Given the description of an element on the screen output the (x, y) to click on. 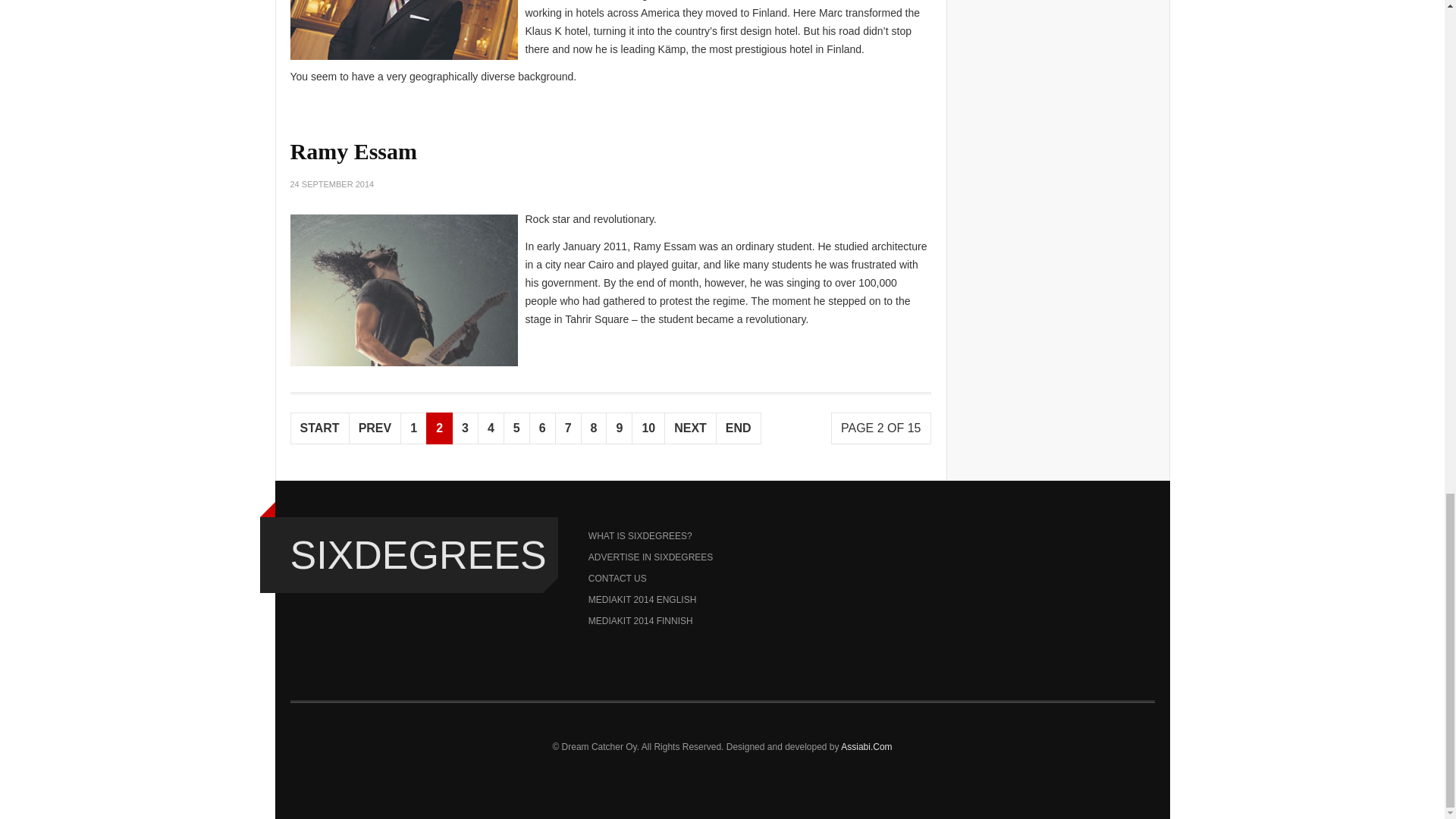
Prev (375, 427)
Ramy Essam (352, 150)
PREV (375, 427)
Start (319, 427)
Ramy Essam (352, 150)
START (319, 427)
